Given the description of an element on the screen output the (x, y) to click on. 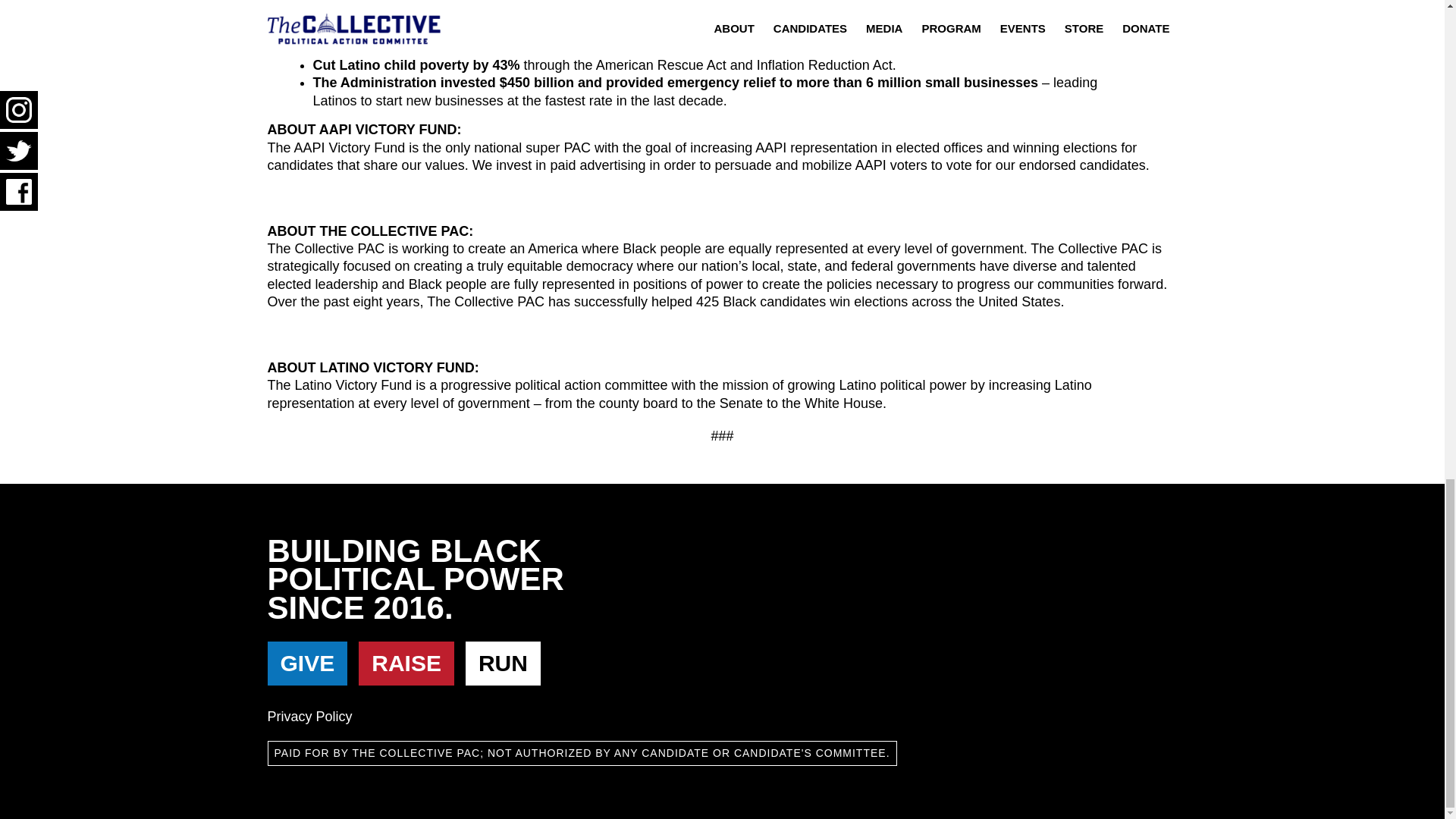
RAISE (409, 666)
RAISE (406, 663)
GIVE (310, 666)
RUN (506, 666)
RUN (502, 663)
GIVE (306, 663)
